Given the description of an element on the screen output the (x, y) to click on. 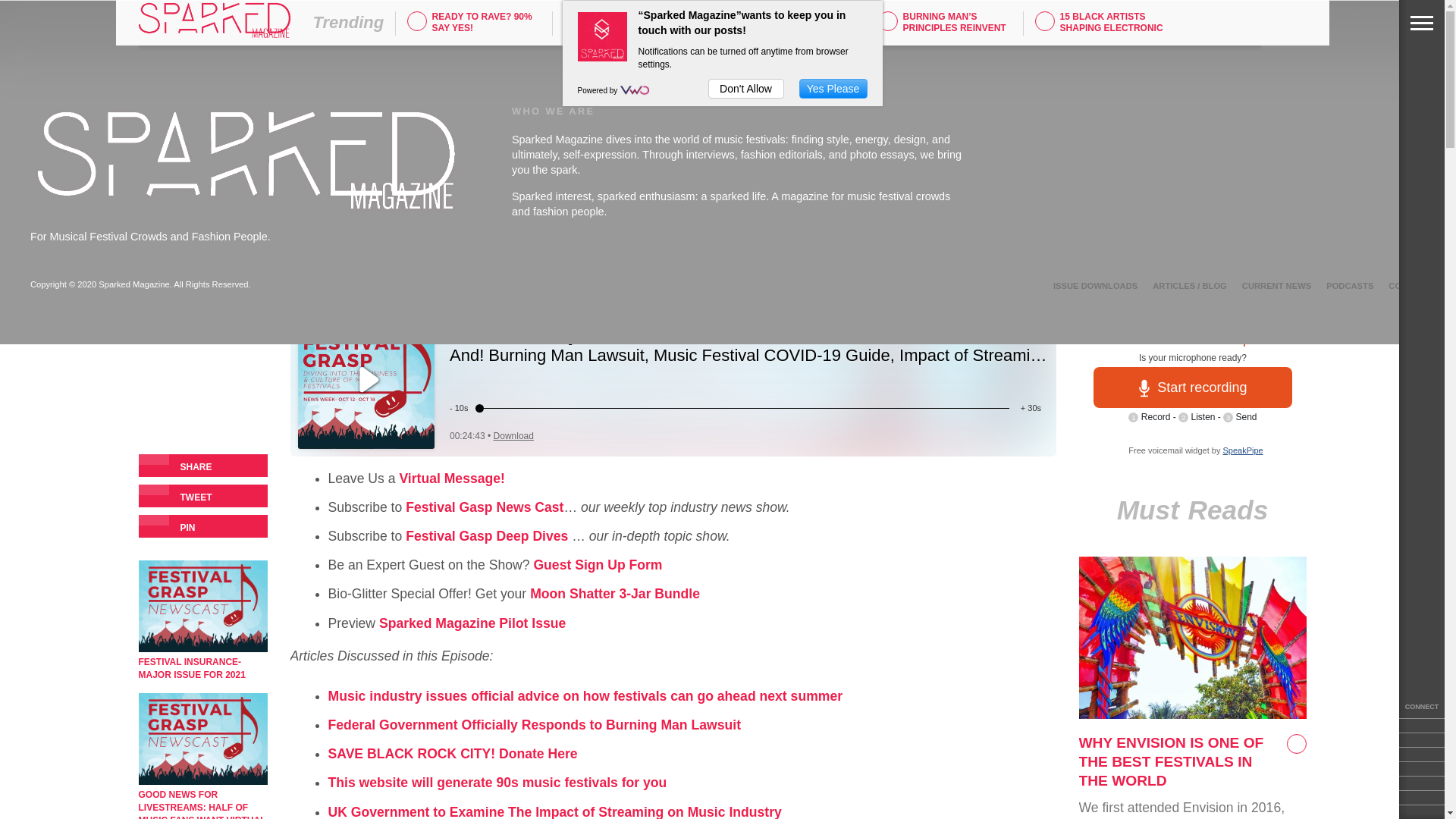
DANCE MUSIC STRUGGLING FOR GROOVE (787, 28)
MUSIC FESTIVALS 2021: WHERE ARE WE HEADED? (630, 28)
15 BLACK ARTISTS SHAPING ELECTRONIC DANCE MUSIC (1102, 28)
Virtual Message! (451, 478)
FESTIVAL GRASP NEWS CAST (887, 21)
FESTIVAL GRASP NEWS CAST (573, 21)
Moon Shatter 3-Jar Bundle (614, 593)
FESTIVAL GRASP NEWS CAST (416, 21)
FESTIVAL GRASP NEWS CAST (214, 191)
FESTIVAL GRASP NEWS CAST (1044, 21)
Festival Gasp News Cast (484, 507)
FESTIVAL GRASP NEWS CAST (730, 21)
Festival Gasp Deep Dives (486, 535)
Guest Sign Up Form (597, 564)
